Given the description of an element on the screen output the (x, y) to click on. 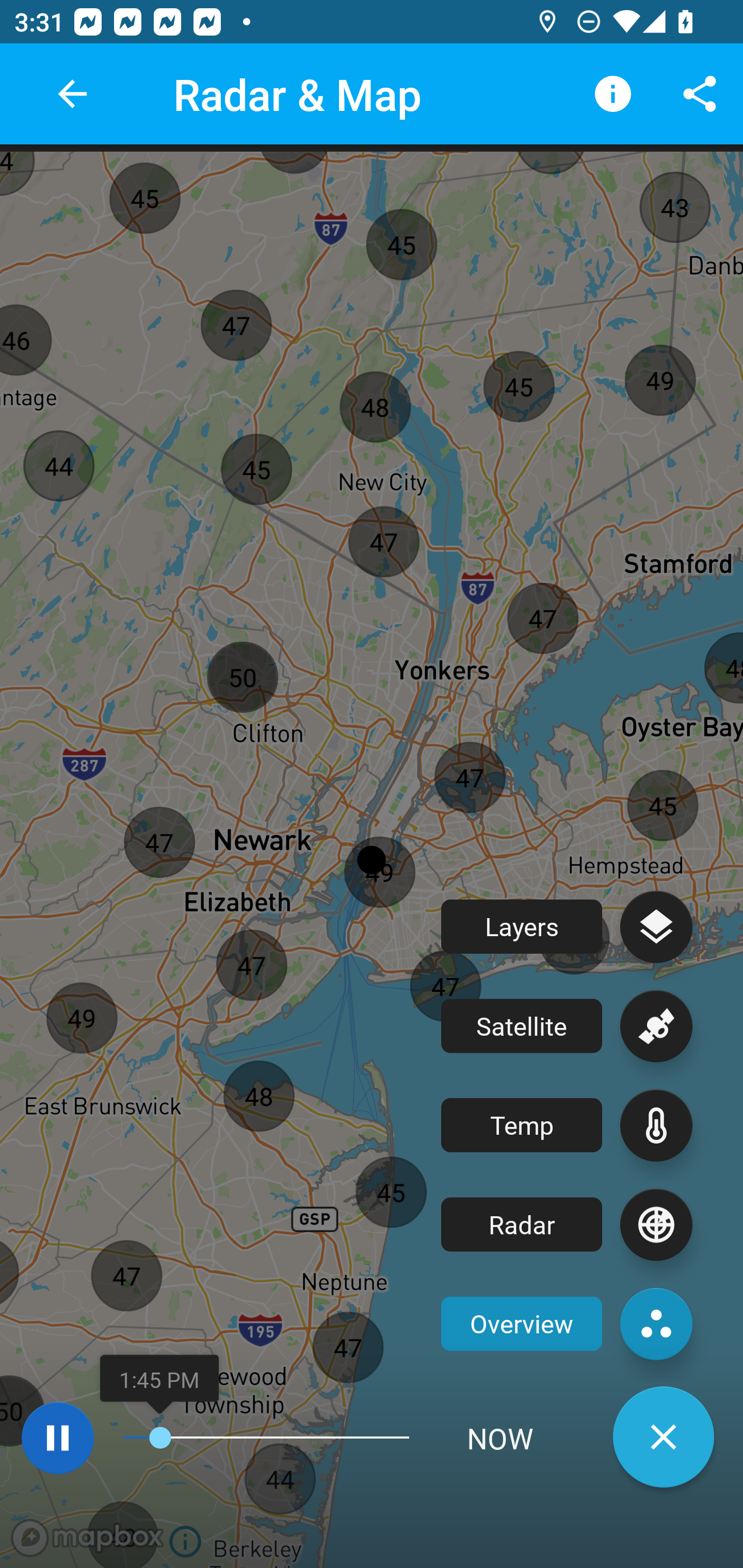
back (71, 93)
Legend (612, 93)
Share (699, 93)
Layers (566, 926)
Satellite (566, 1026)
Temp (566, 1125)
Radar (566, 1224)
Overview (566, 1323)
Close layers menu. (663, 1437)
